Given the description of an element on the screen output the (x, y) to click on. 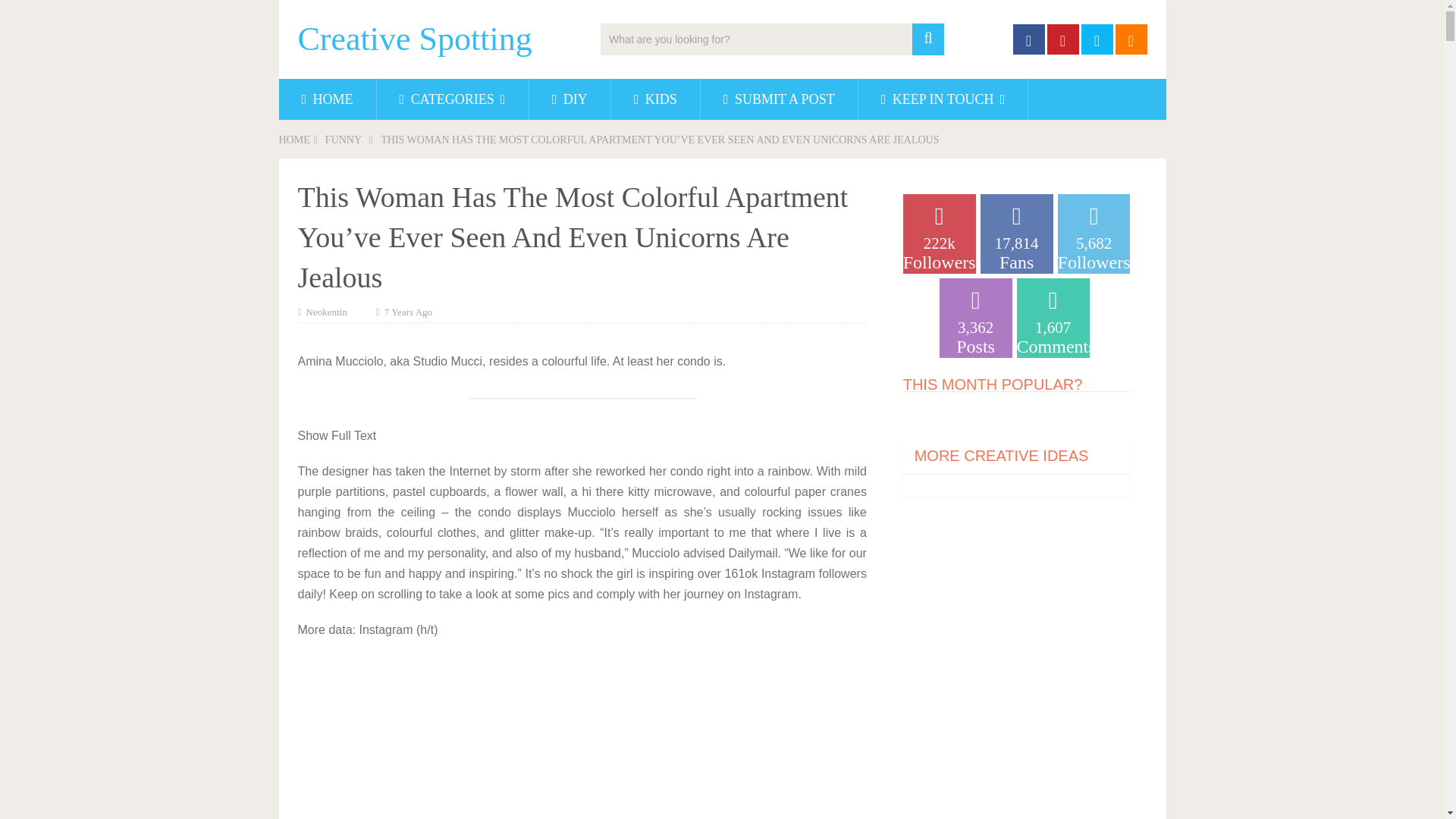
KEEP IN TOUCH (943, 98)
Posts by Neokentin (326, 311)
DIY (569, 98)
CATEGORIES (452, 98)
HOME (327, 98)
SUBMIT A POST (778, 98)
Kids (655, 98)
KIDS (655, 98)
Creative Spotting (414, 39)
DIY (569, 98)
